Given the description of an element on the screen output the (x, y) to click on. 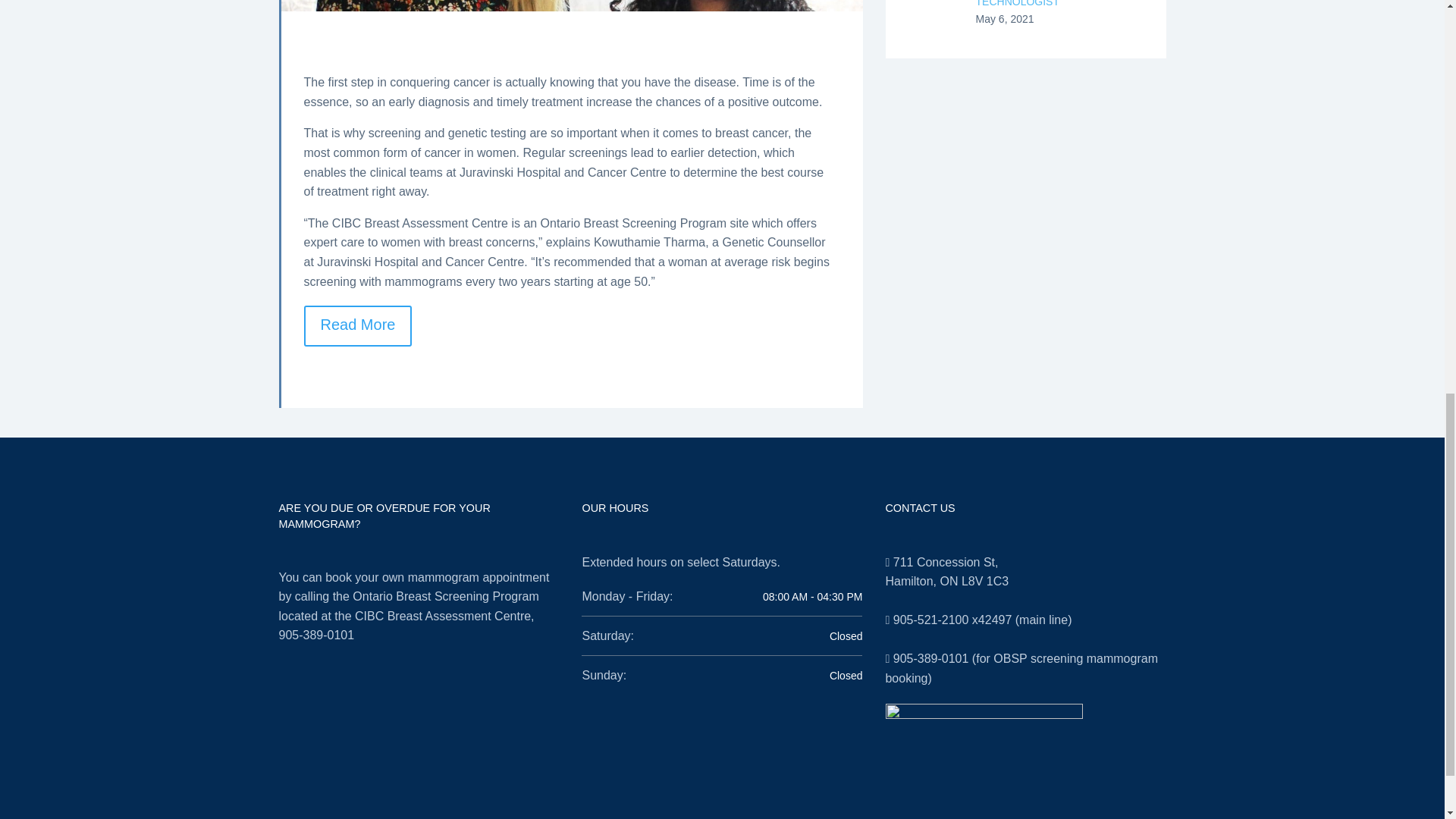
Read More (357, 325)
INTRODUCING A MAMMOGRAPHY TECHNOLOGIST (1058, 5)
